Given the description of an element on the screen output the (x, y) to click on. 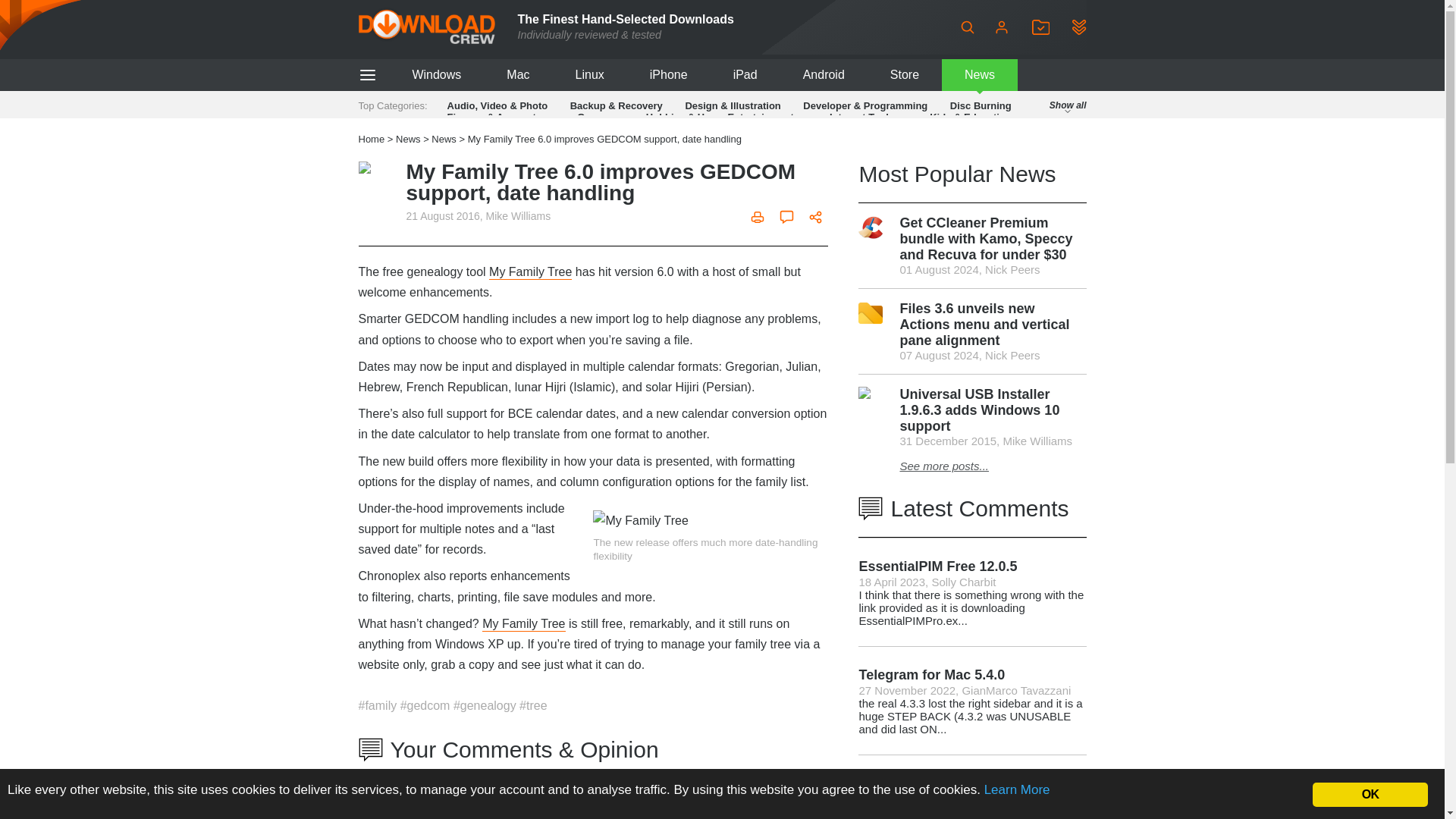
Linux (590, 74)
iPad (745, 74)
Games (593, 116)
Mac (517, 74)
Internet Tools (861, 116)
Downloadcrew - Home (426, 26)
iPhone (668, 74)
Disc Burning (980, 105)
Windows (435, 74)
Android (823, 74)
